Given the description of an element on the screen output the (x, y) to click on. 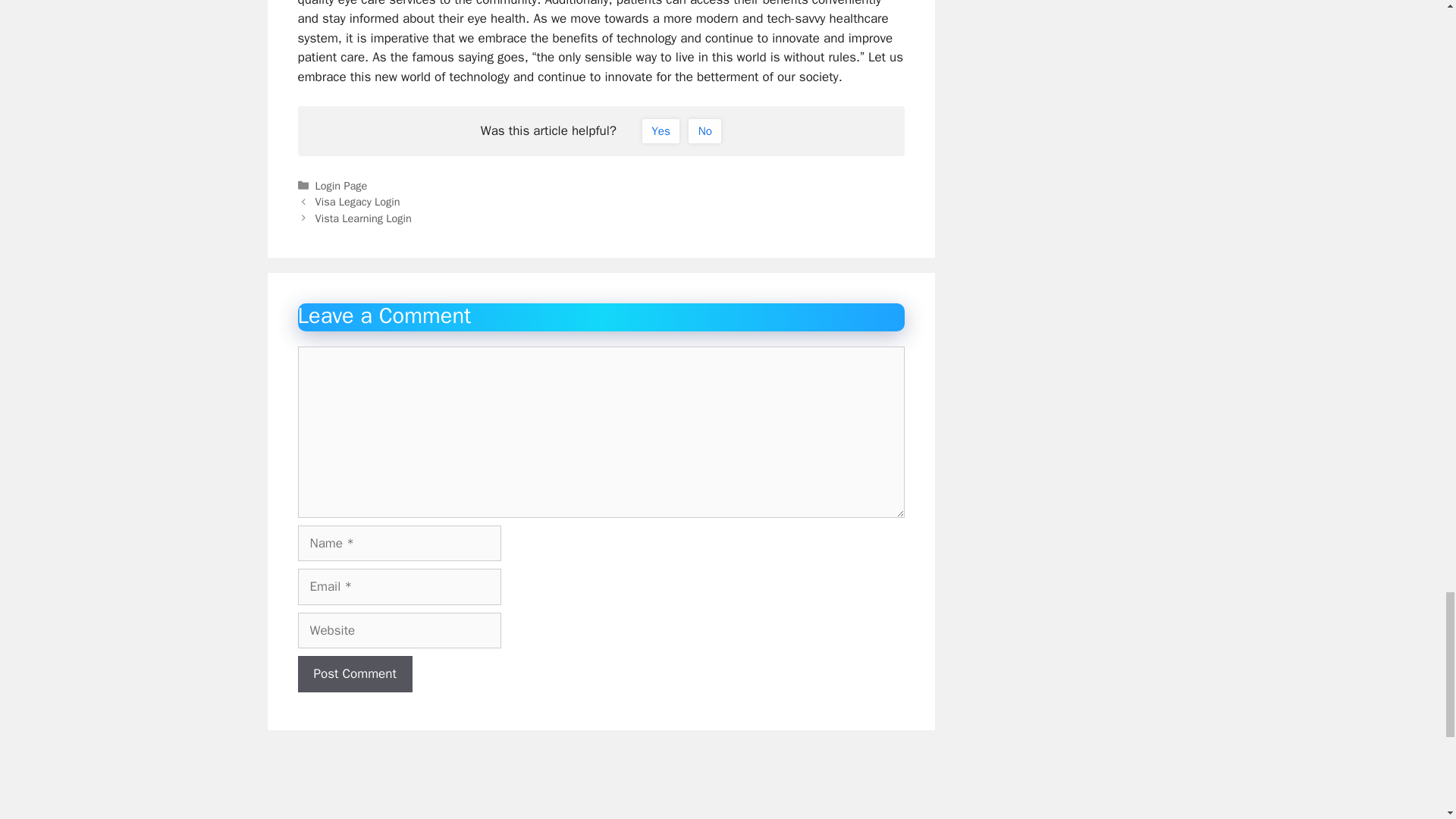
Vista Learning Login (363, 218)
Post Comment (354, 674)
Login Page (341, 185)
Post Comment (354, 674)
Visa Legacy Login (357, 201)
